Given the description of an element on the screen output the (x, y) to click on. 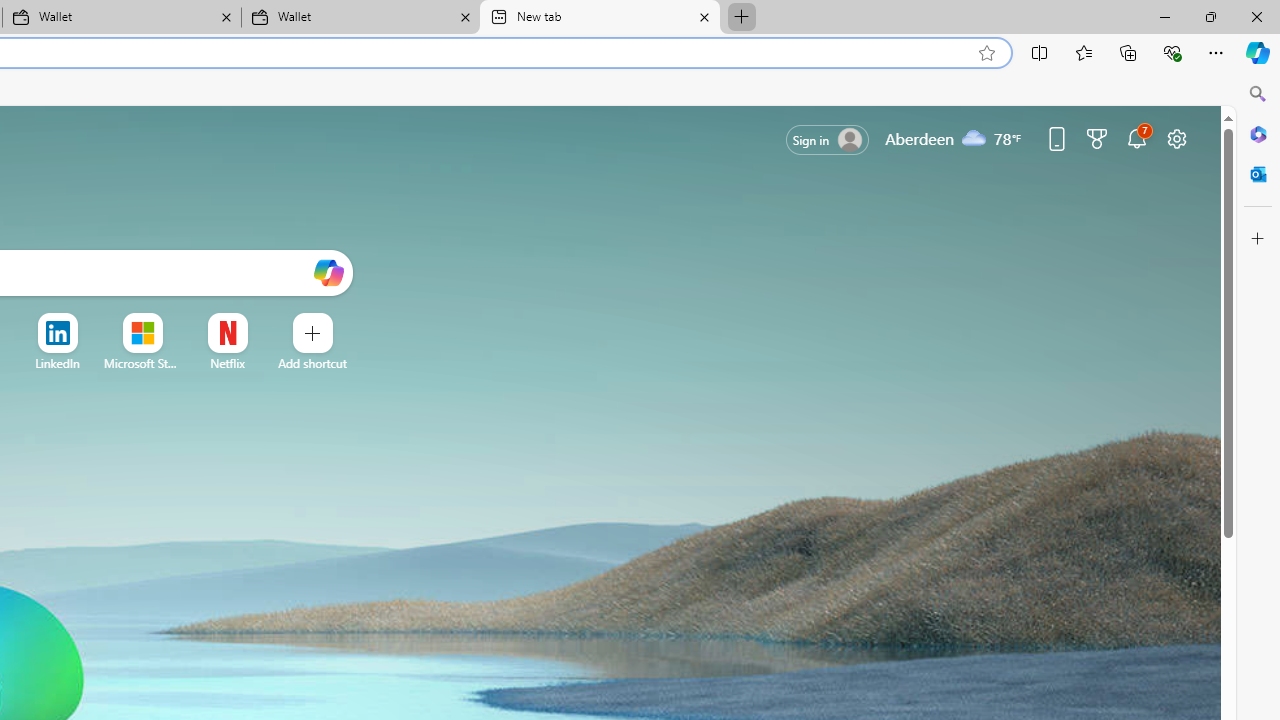
Click to sign into Microsoft Edge (827, 139)
Notifications (1137, 138)
Add a site (311, 363)
